Given the description of an element on the screen output the (x, y) to click on. 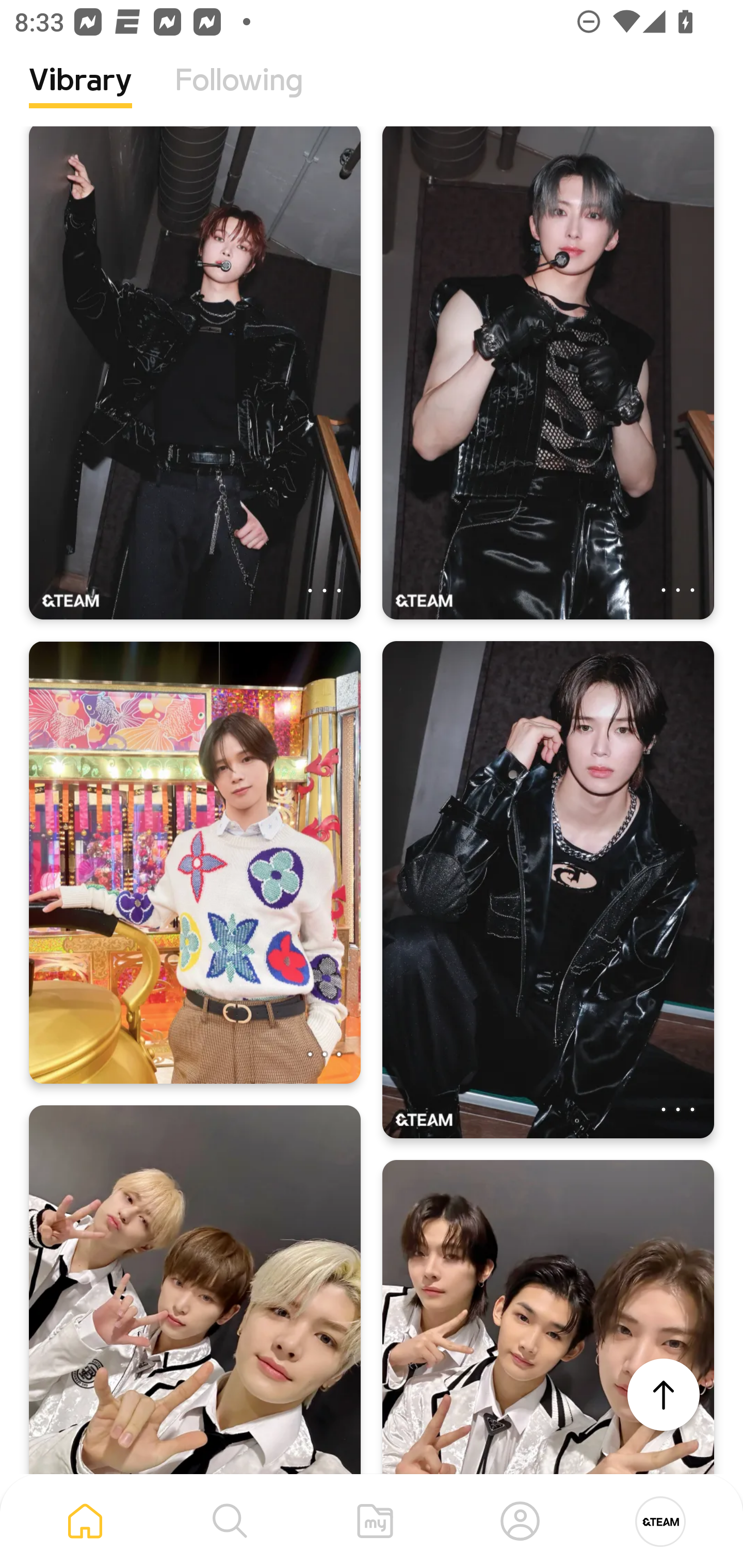
Vibrary (80, 95)
Following (239, 95)
